Given the description of an element on the screen output the (x, y) to click on. 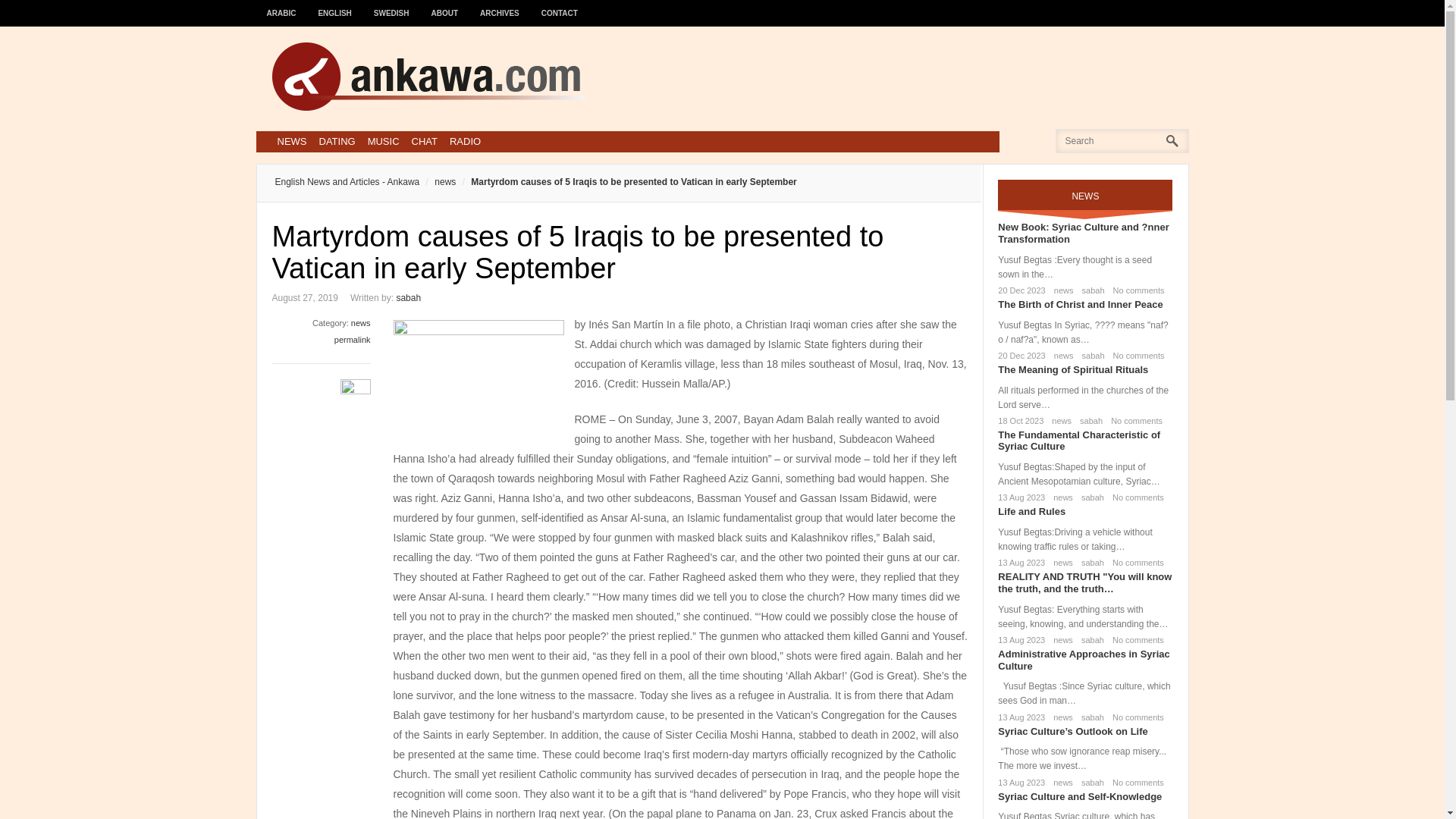
MUSIC (383, 141)
New Book: Syriac Culture and ?nner Transformation (1083, 232)
CONTACT (560, 5)
NEWS (291, 141)
No comments (1135, 289)
Life and Rules (1031, 511)
RADIO (465, 141)
The Fundamental Characteristic of Syriac Culture (1078, 440)
The Fundamental Characteristic of Syriac Culture (1078, 440)
sabah (408, 297)
English News and Articles - Ankawa (347, 181)
No comments (1135, 355)
news (1059, 497)
No comments (1134, 497)
